Given the description of an element on the screen output the (x, y) to click on. 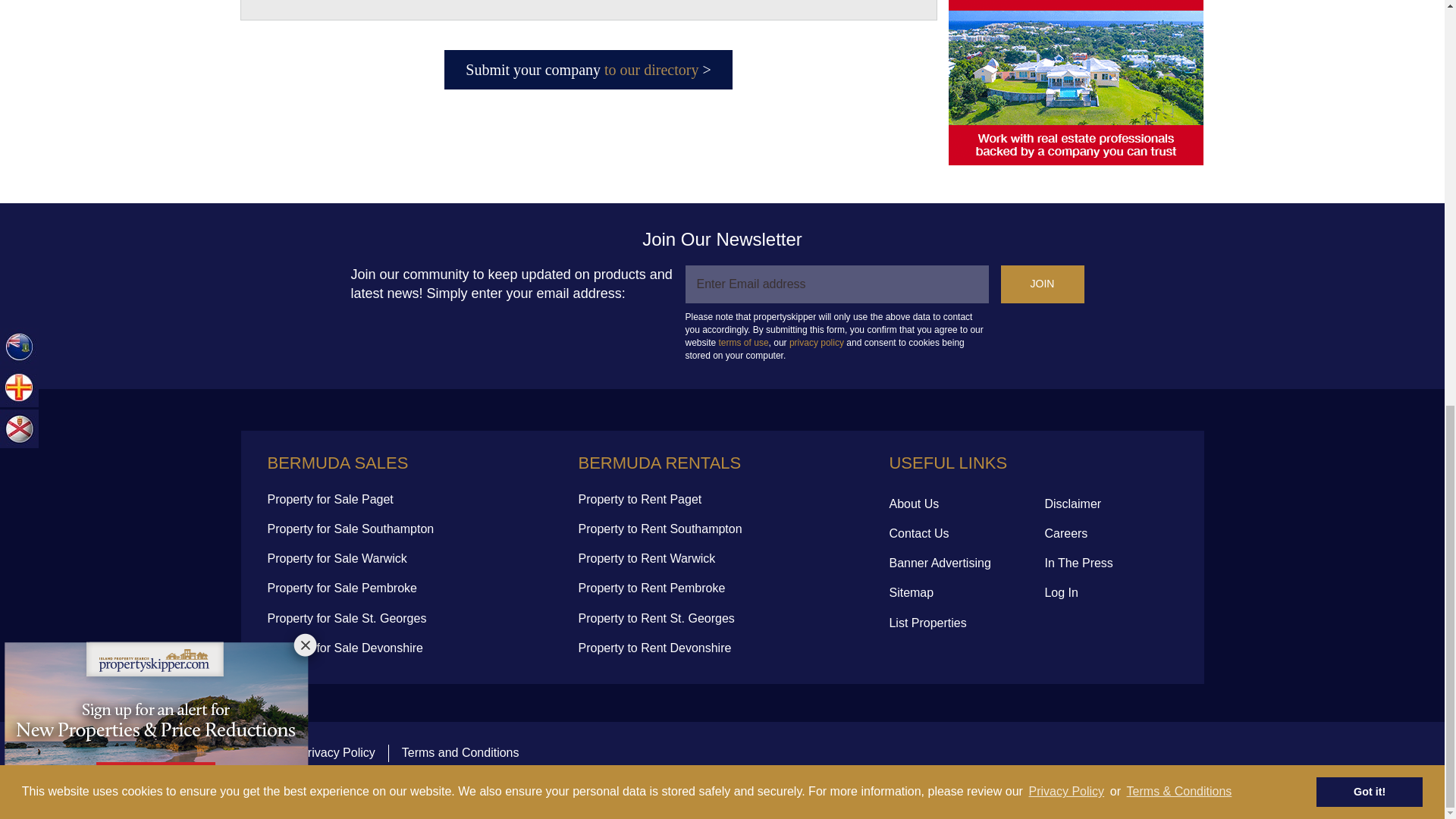
Got it! (1369, 2)
